Given the description of an element on the screen output the (x, y) to click on. 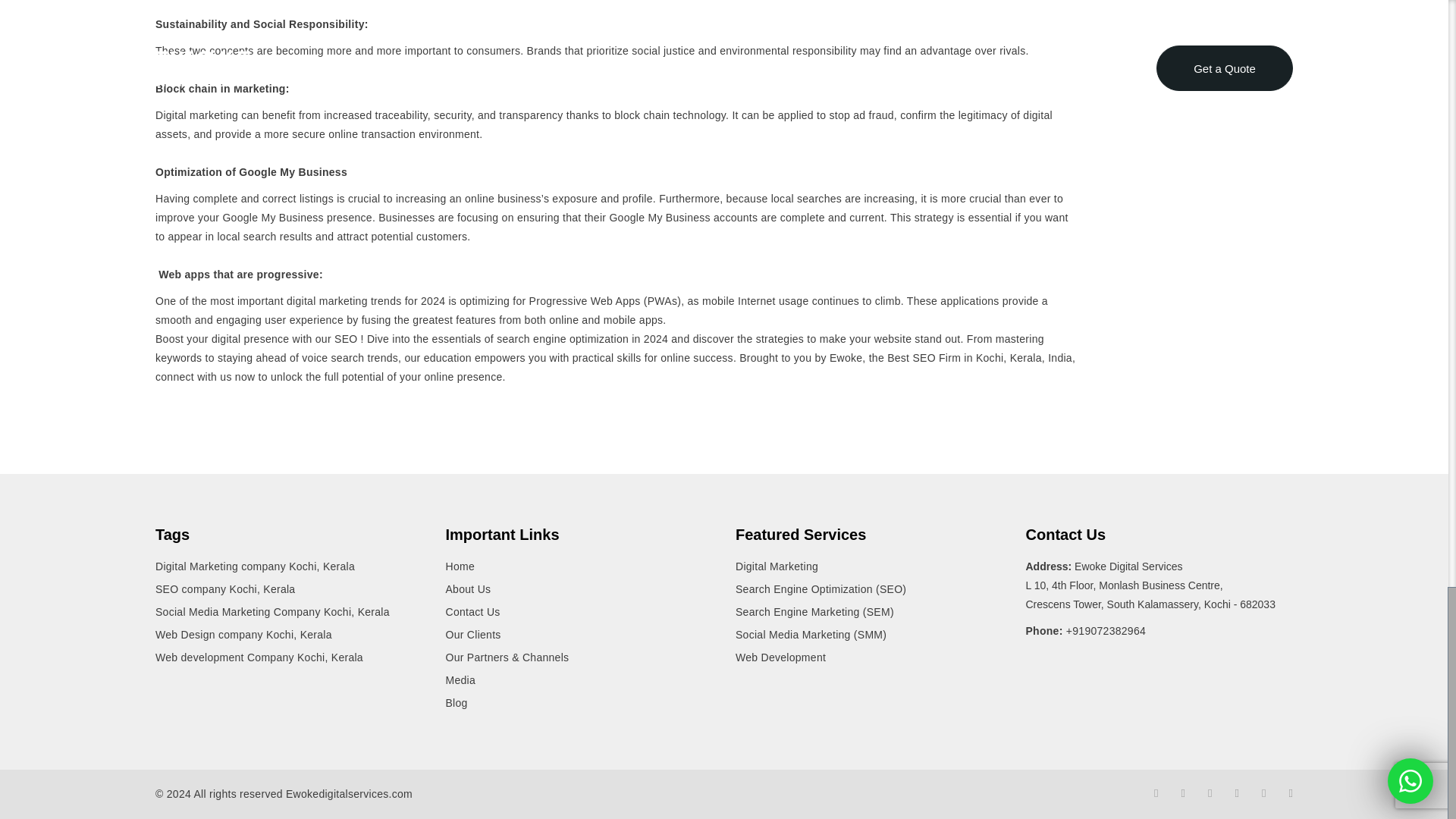
Best SEO Firm in Kochi, Kerala, India, (980, 357)
Social Media Marketing Company Kochi, Kerala (272, 611)
Digital Marketing company Kochi, Kerala (255, 566)
Home (459, 566)
About Us (468, 588)
Web development Company Kochi, Kerala (258, 657)
SEO company Kochi, Kerala (225, 588)
Contact Us (472, 611)
Web Design company Kochi, Kerala (243, 634)
